Given the description of an element on the screen output the (x, y) to click on. 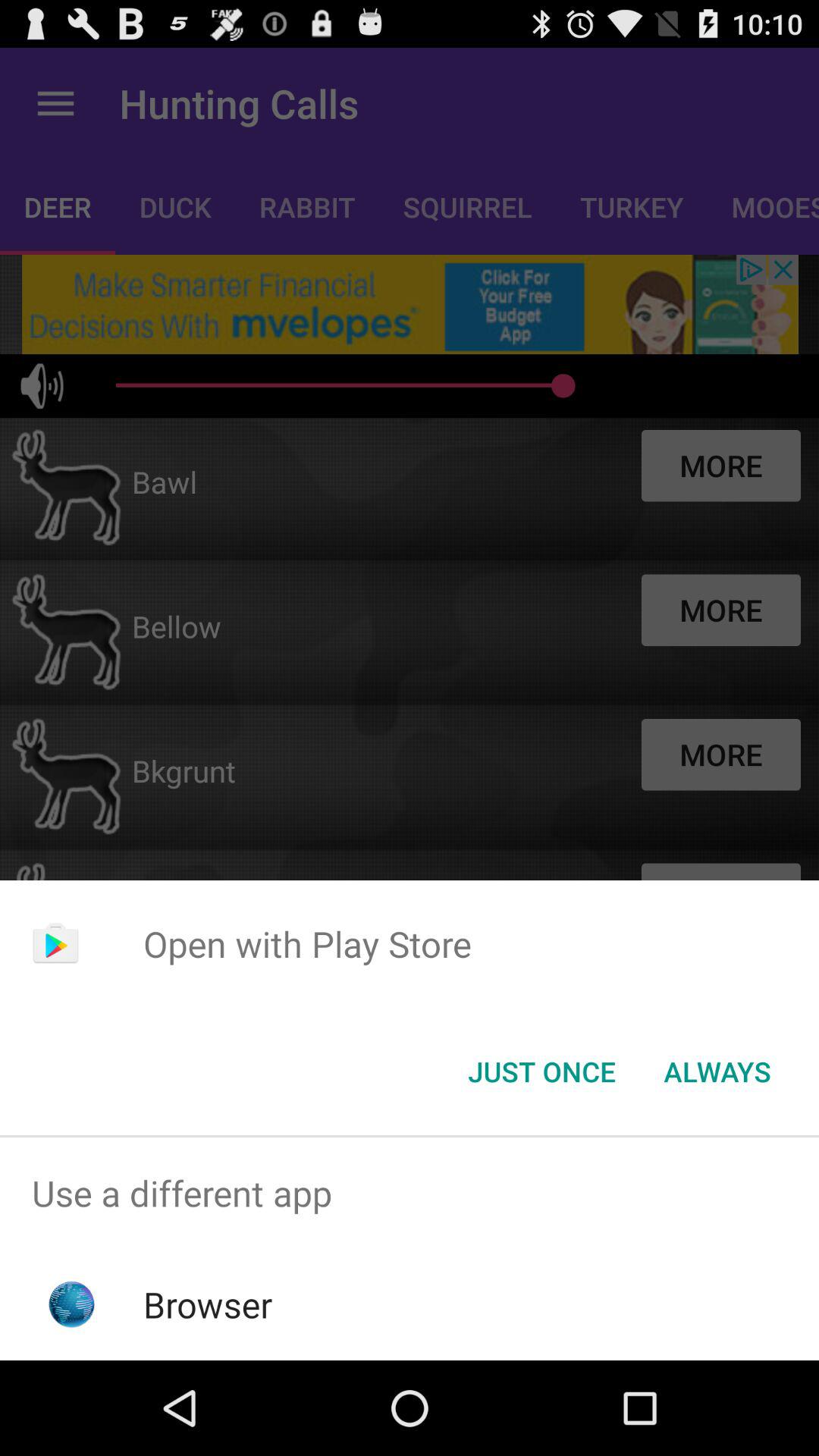
click the item below the open with play icon (541, 1071)
